Given the description of an element on the screen output the (x, y) to click on. 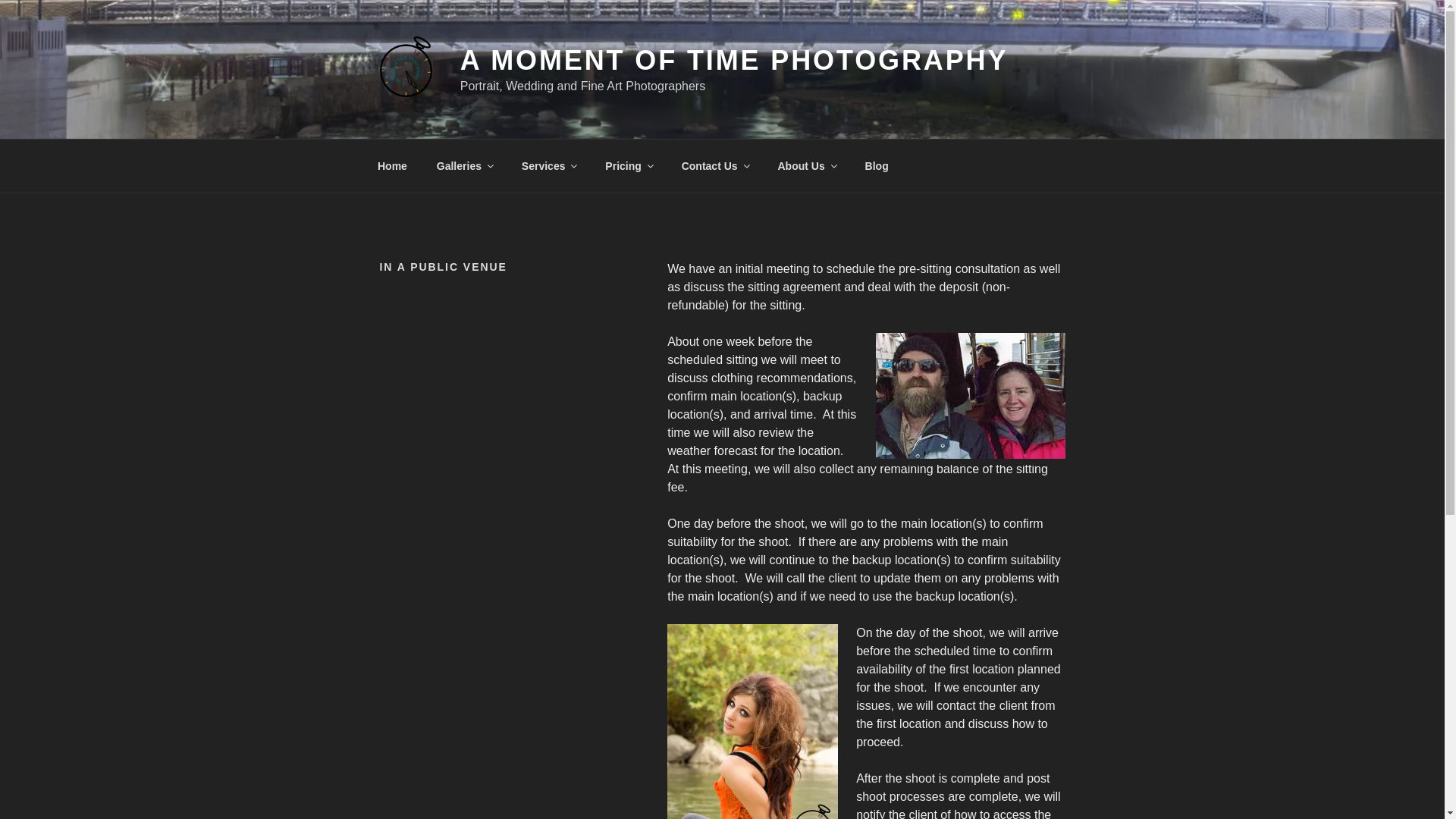
Home (392, 165)
Services (548, 165)
A MOMENT OF TIME PHOTOGRAPHY (734, 60)
Pricing (628, 165)
Blog (876, 165)
Contact Us (714, 165)
Richard and Kelley on Cable Car (969, 395)
Galleries (464, 165)
About Us (806, 165)
